Given the description of an element on the screen output the (x, y) to click on. 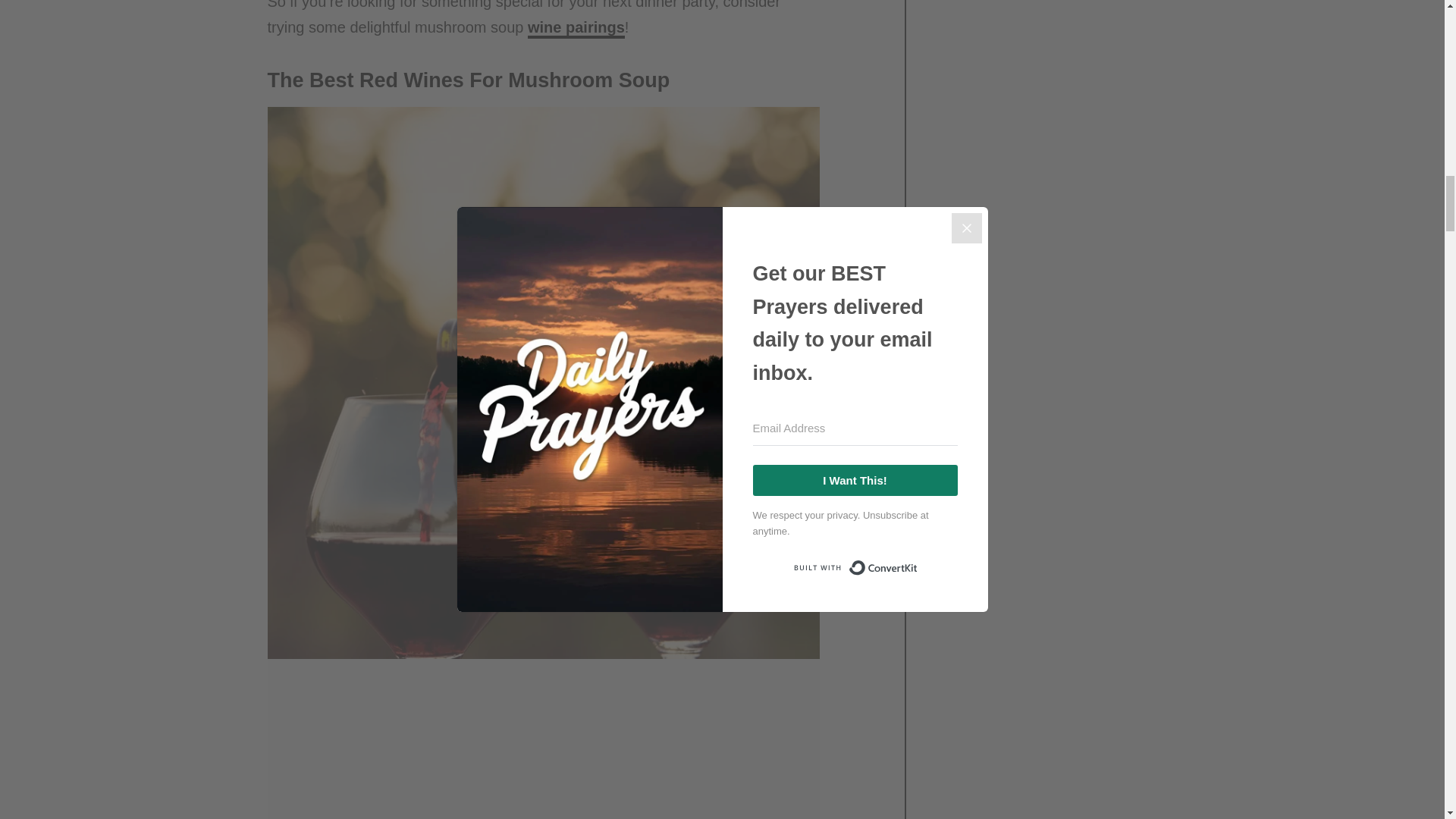
wine pairings (575, 28)
wine pairings (575, 28)
